Given the description of an element on the screen output the (x, y) to click on. 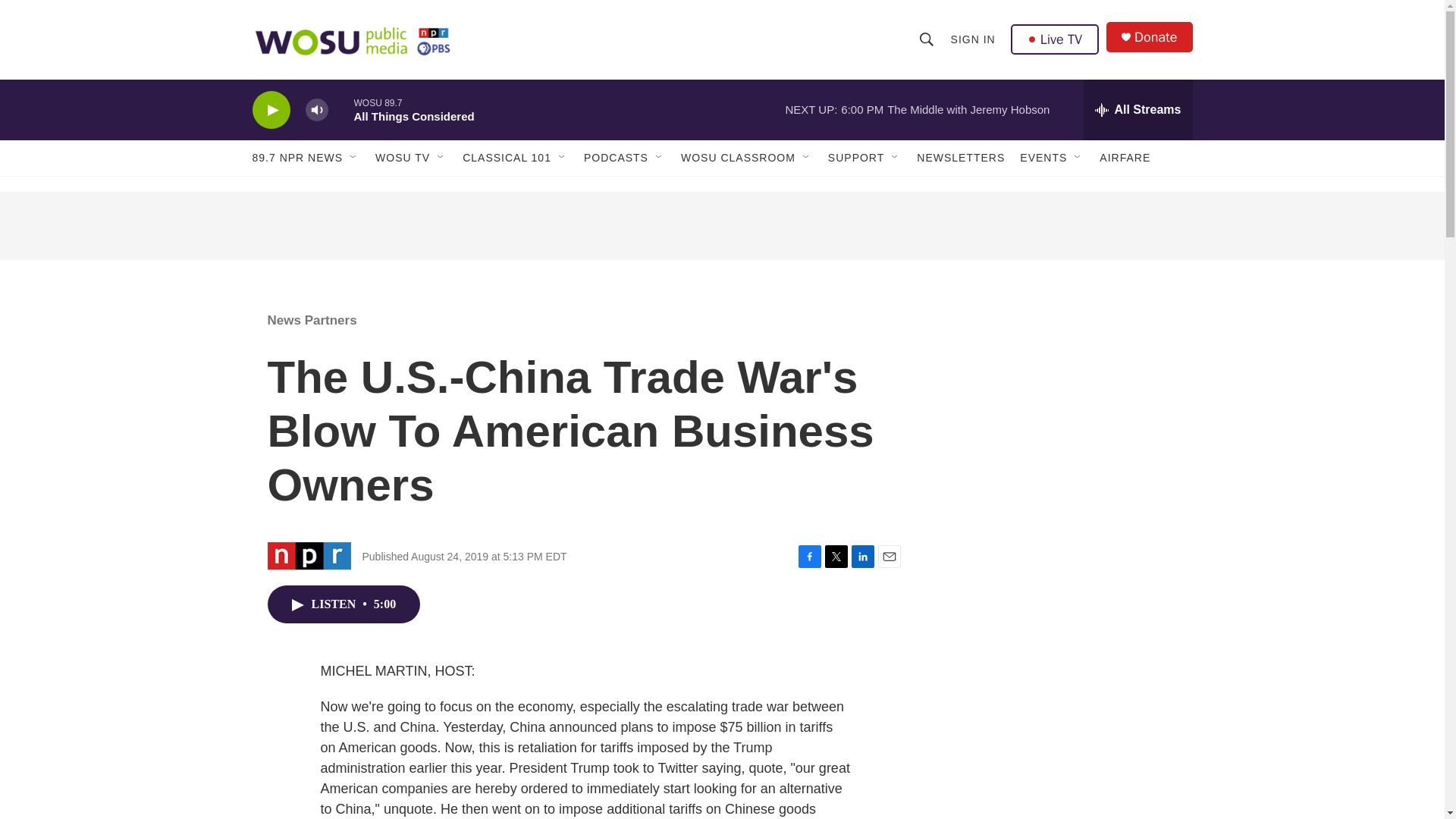
3rd party ad content (721, 225)
3rd party ad content (1062, 619)
3rd party ad content (1062, 400)
3rd party ad content (1062, 782)
